Given the description of an element on the screen output the (x, y) to click on. 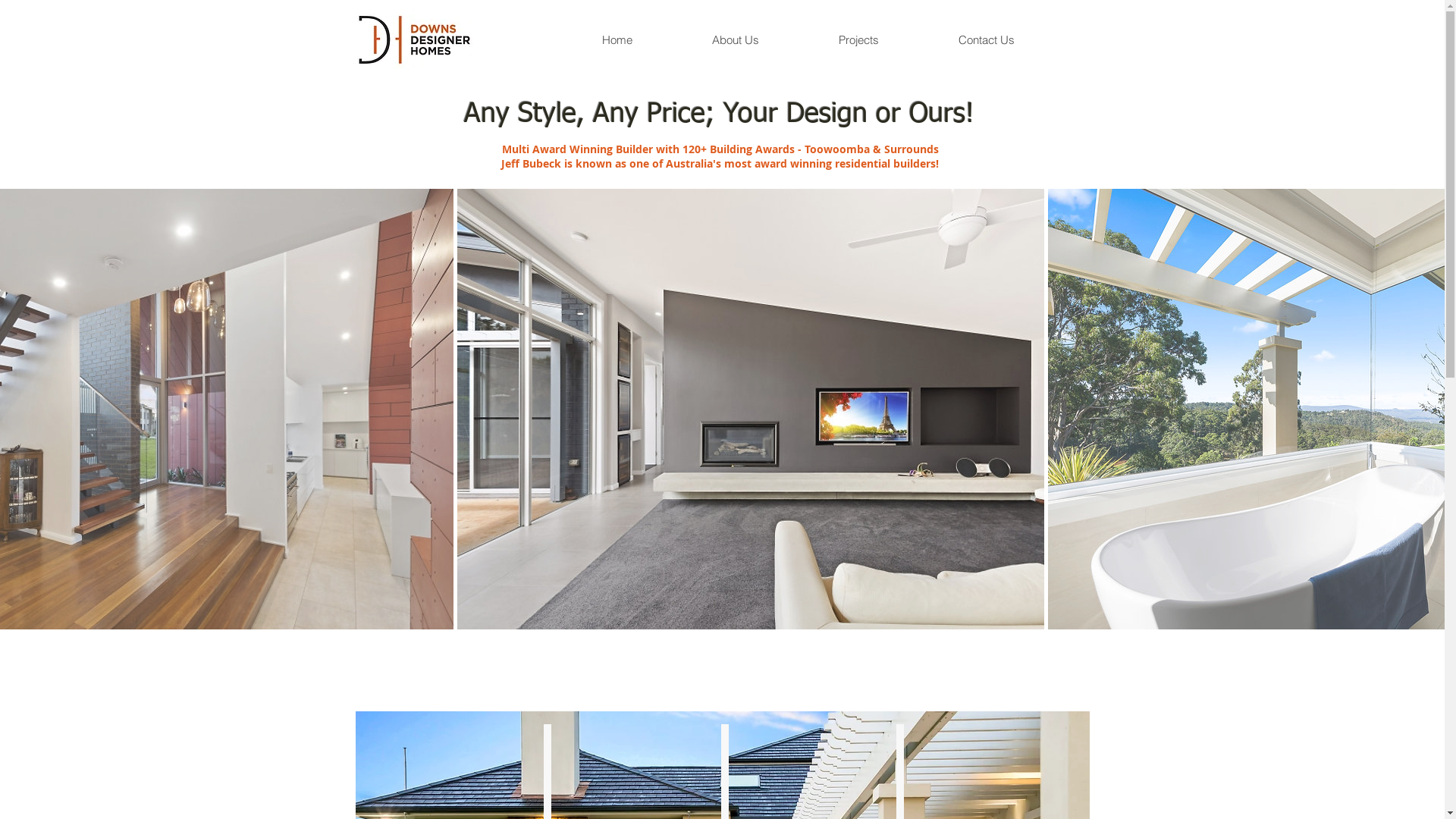
About Us Element type: text (762, 39)
Contact Us Element type: text (1013, 39)
Home Element type: text (644, 39)
Projects Element type: text (886, 39)
